Given the description of an element on the screen output the (x, y) to click on. 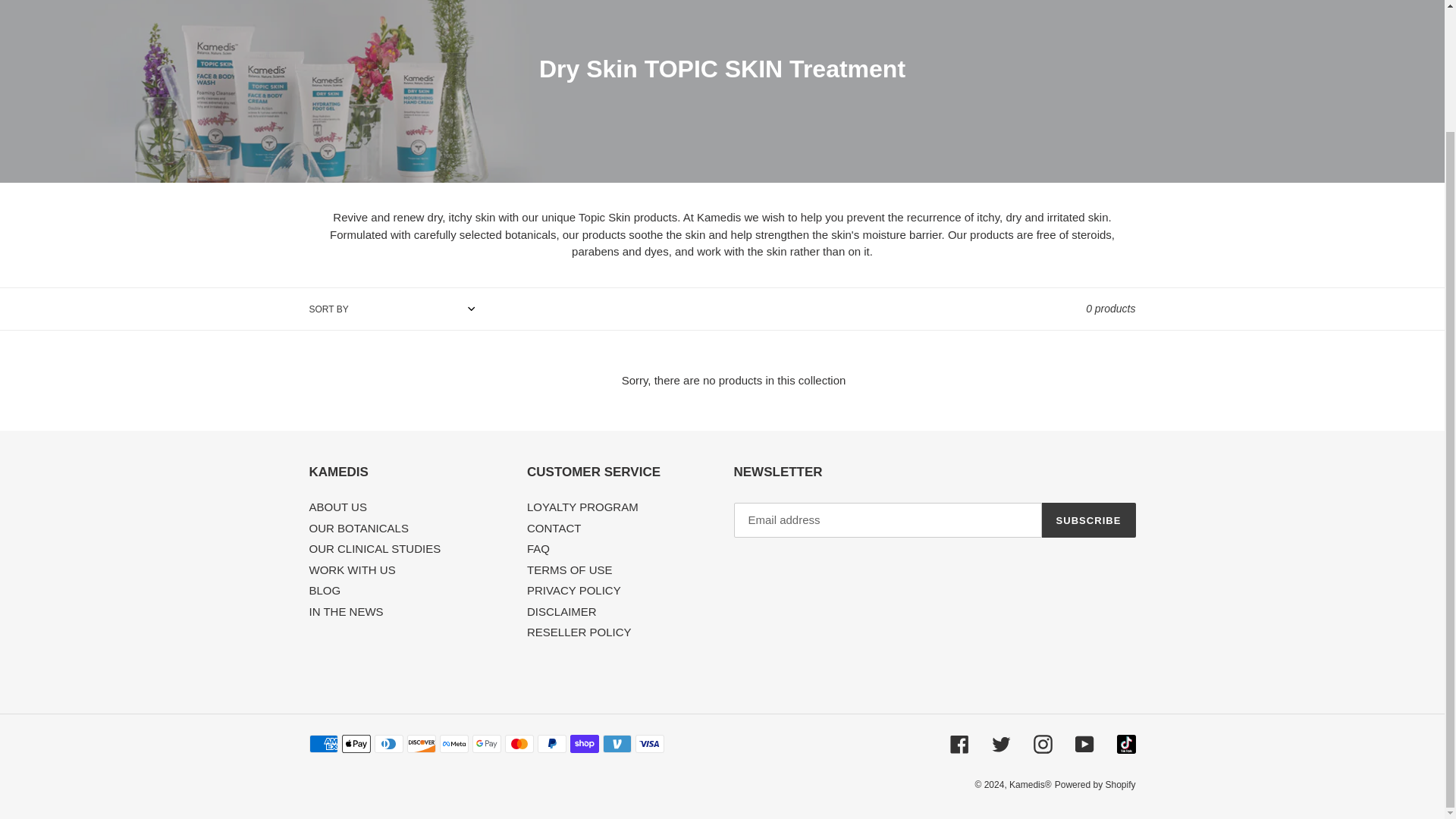
WORK WITH US (352, 569)
IN THE NEWS (346, 611)
TERMS OF USE (569, 569)
ABOUT US (337, 506)
OUR CLINICAL STUDIES (374, 548)
FAQ (538, 548)
BLOG (324, 590)
OUR BOTANICALS (358, 527)
CONTACT (553, 527)
LOYALTY PROGRAM (583, 506)
